Given the description of an element on the screen output the (x, y) to click on. 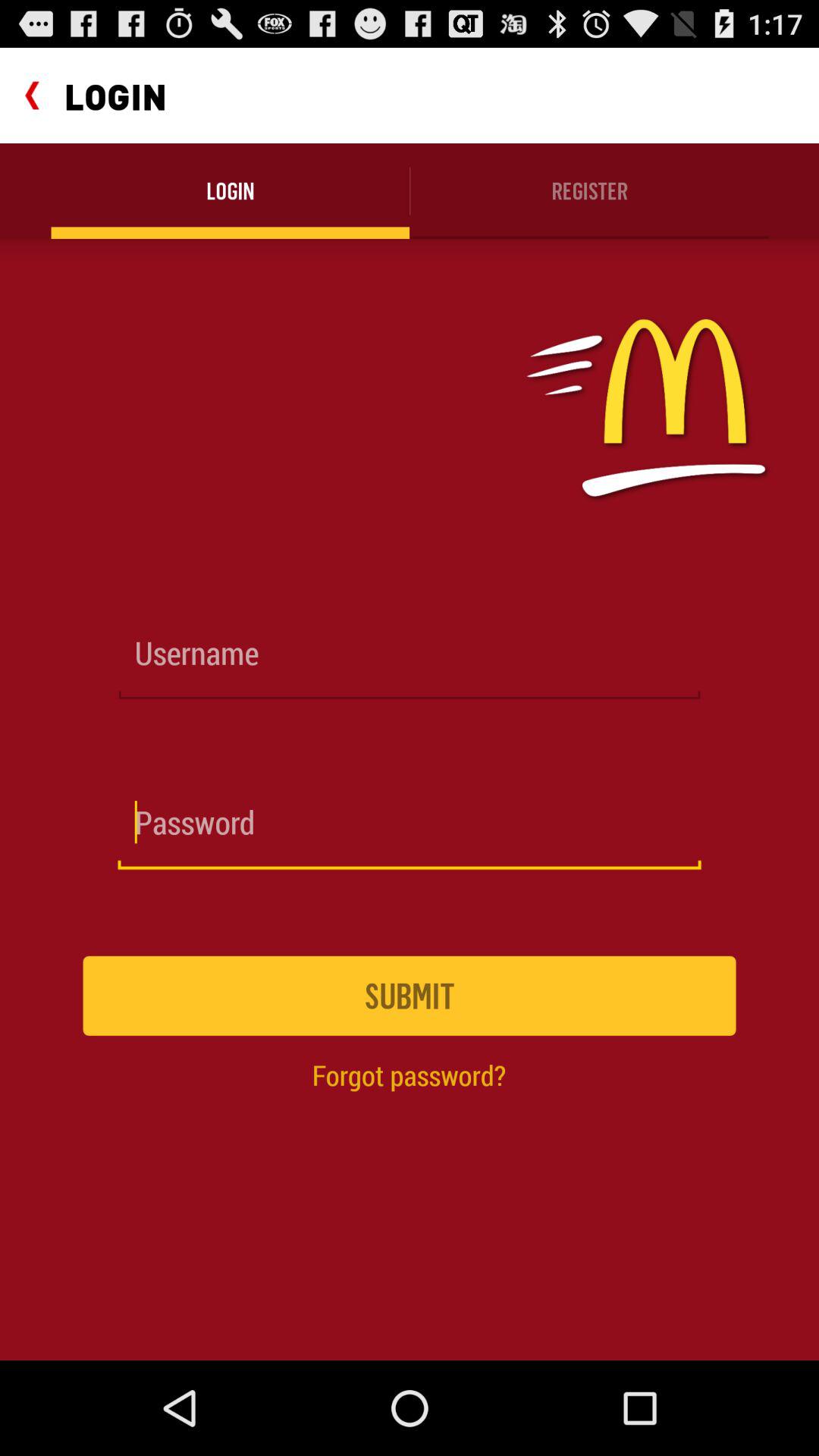
open forgot password? (409, 1074)
